Given the description of an element on the screen output the (x, y) to click on. 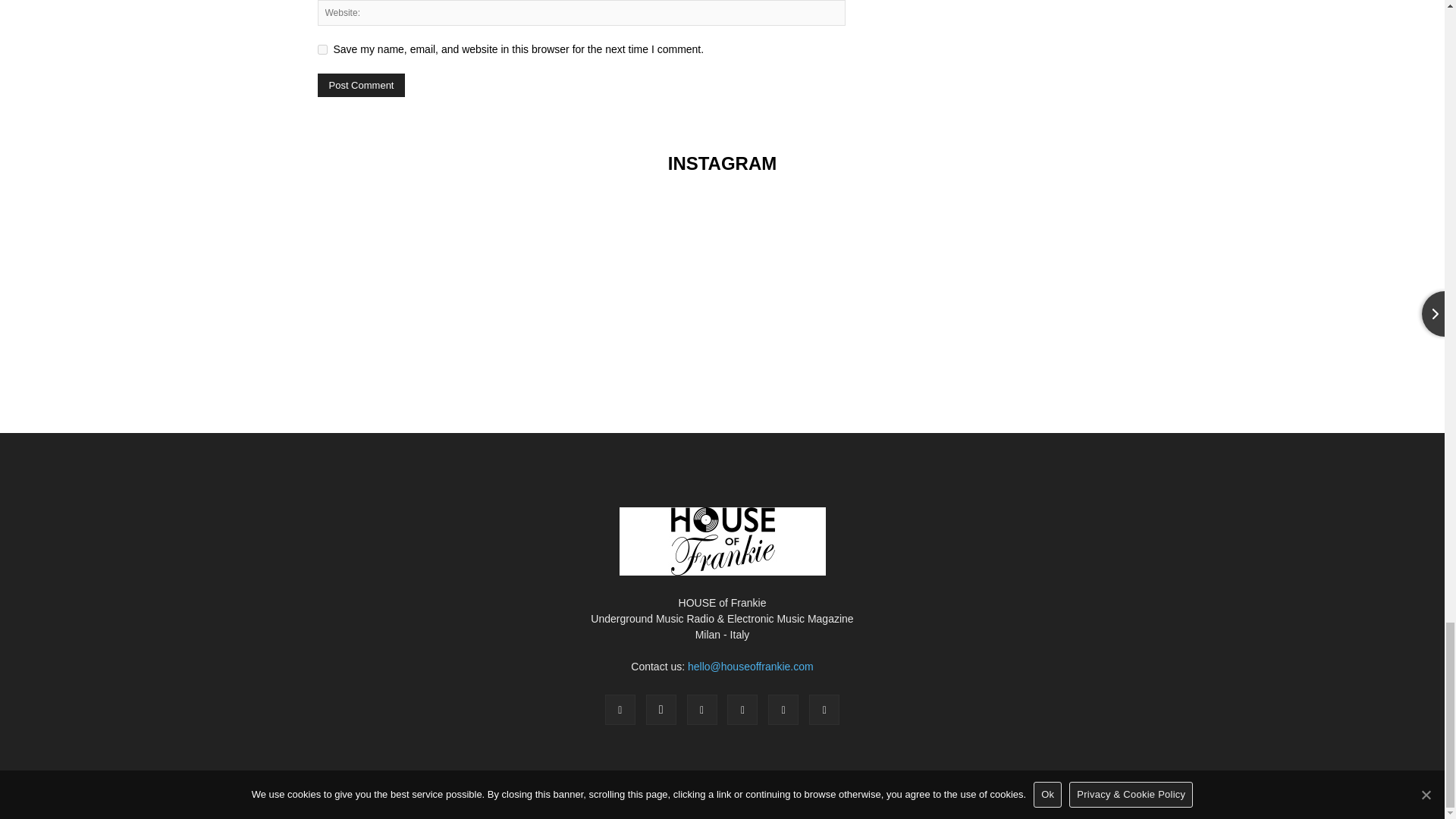
Post Comment (360, 85)
yes (321, 49)
